Given the description of an element on the screen output the (x, y) to click on. 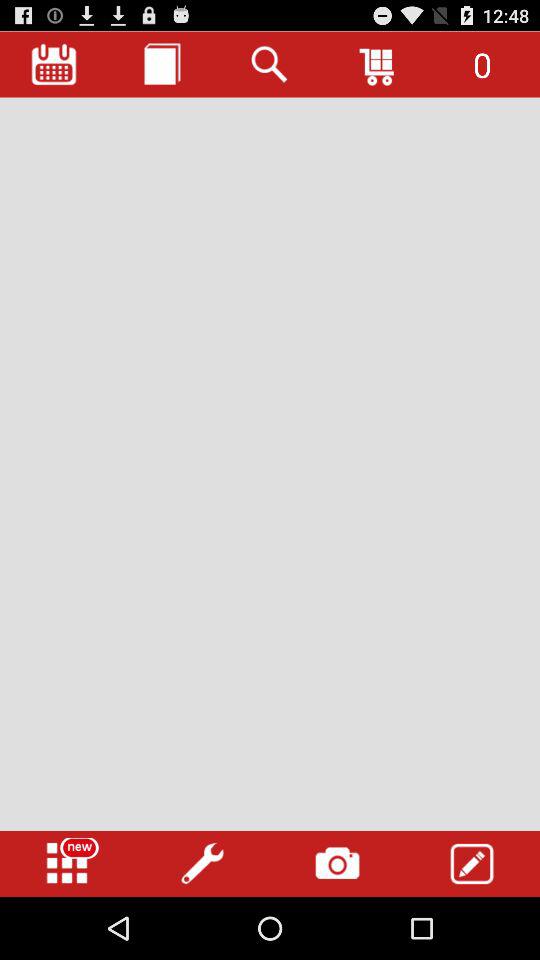
select icon next to 0 item (377, 64)
